Given the description of an element on the screen output the (x, y) to click on. 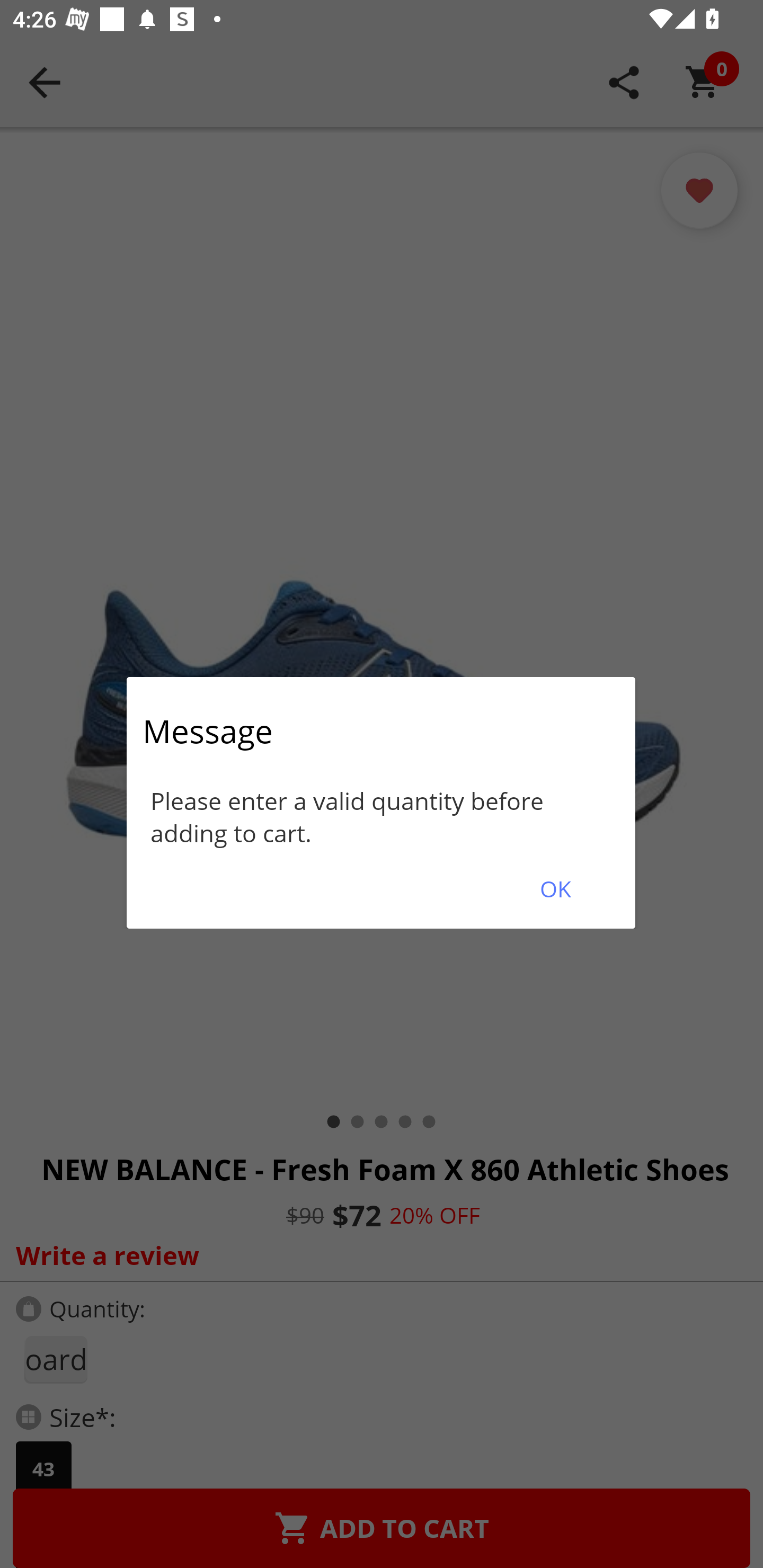
OK (555, 888)
